Given the description of an element on the screen output the (x, y) to click on. 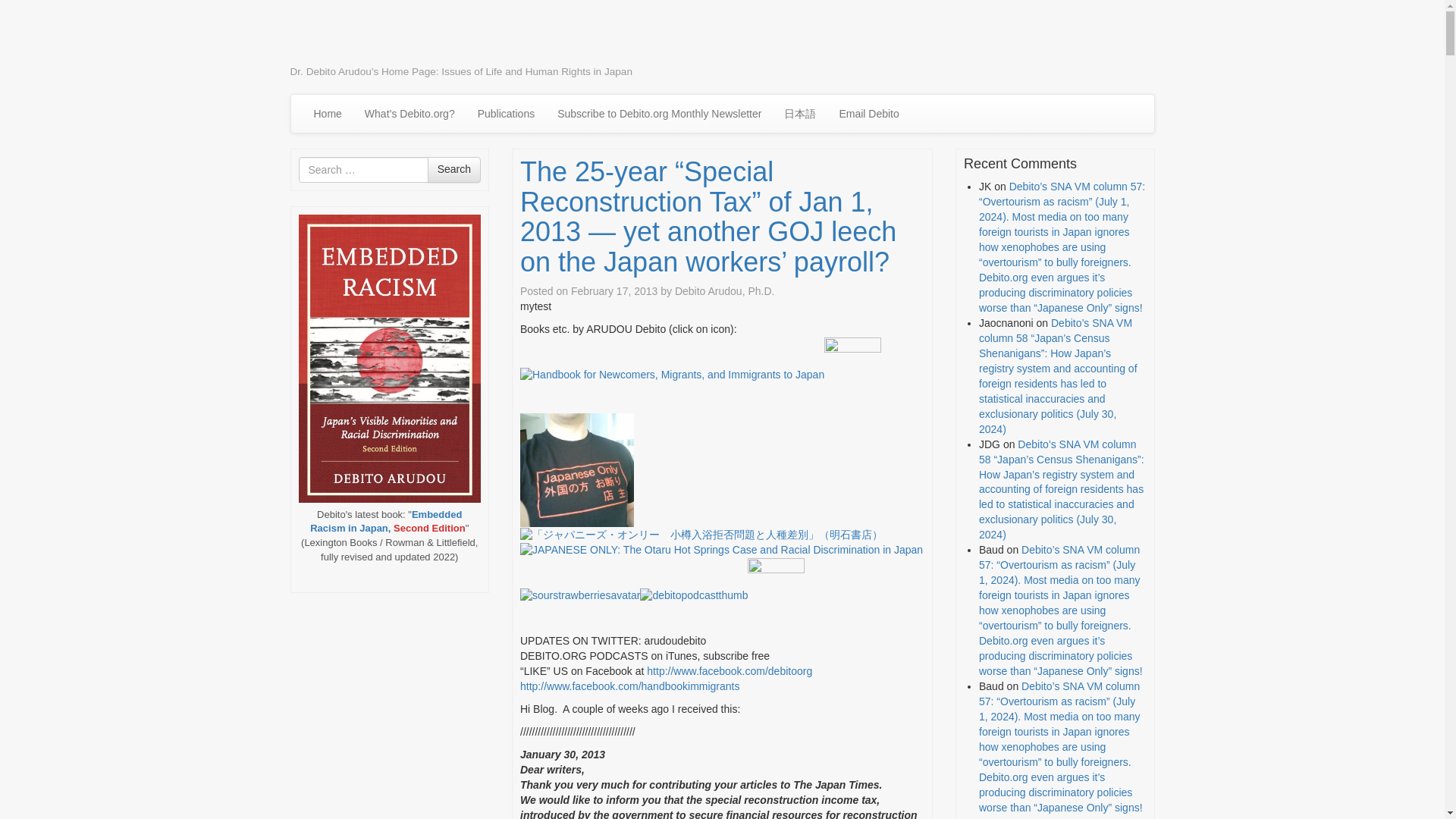
jobookcover (700, 534)
View all posts by Debito Arudou, Ph.D. (724, 291)
Embedded Racism in Japan, Second Edition (387, 521)
debito.org (349, 35)
February 17, 2013 (614, 291)
Email Debito (868, 113)
joshirtblack2 (576, 470)
10:13 pm (614, 291)
Publications (506, 113)
debito.org (349, 35)
